Given the description of an element on the screen output the (x, y) to click on. 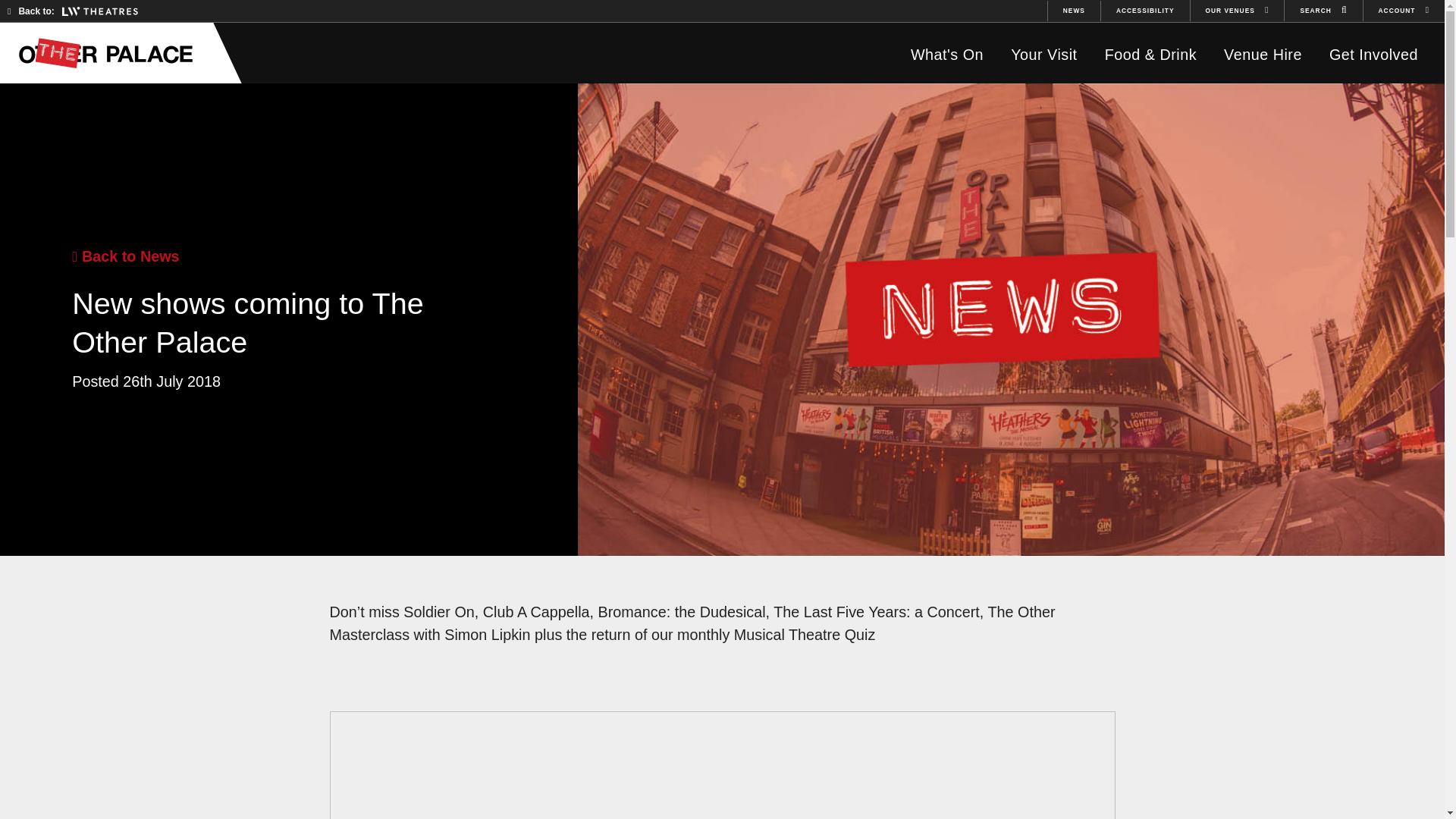
Back to: (72, 10)
Back to News (125, 256)
ACCESSIBILITY (1144, 10)
The Other Palace Theatre (113, 52)
NEWS (1074, 10)
Your Visit (1042, 54)
OUR VENUES (1237, 10)
SEARCH (1322, 10)
Venue Hire (1262, 54)
What's On (946, 54)
